Given the description of an element on the screen output the (x, y) to click on. 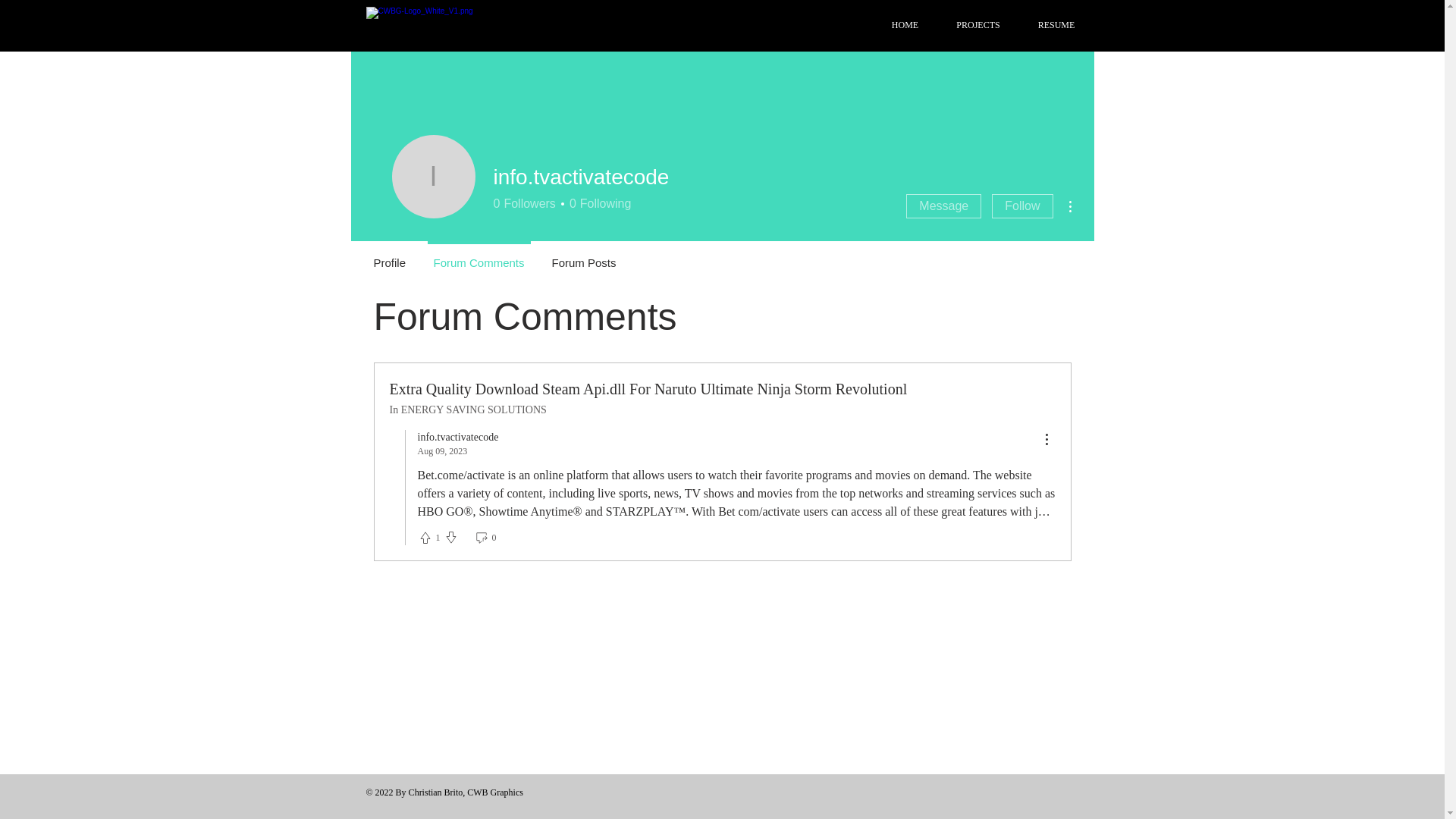
PROJECTS (977, 25)
Forum Comments (479, 255)
HOME (597, 203)
Follow (904, 25)
info.tvactivatecode (1021, 206)
Message (523, 203)
RESUME (432, 176)
Forum Posts (943, 206)
